Given the description of an element on the screen output the (x, y) to click on. 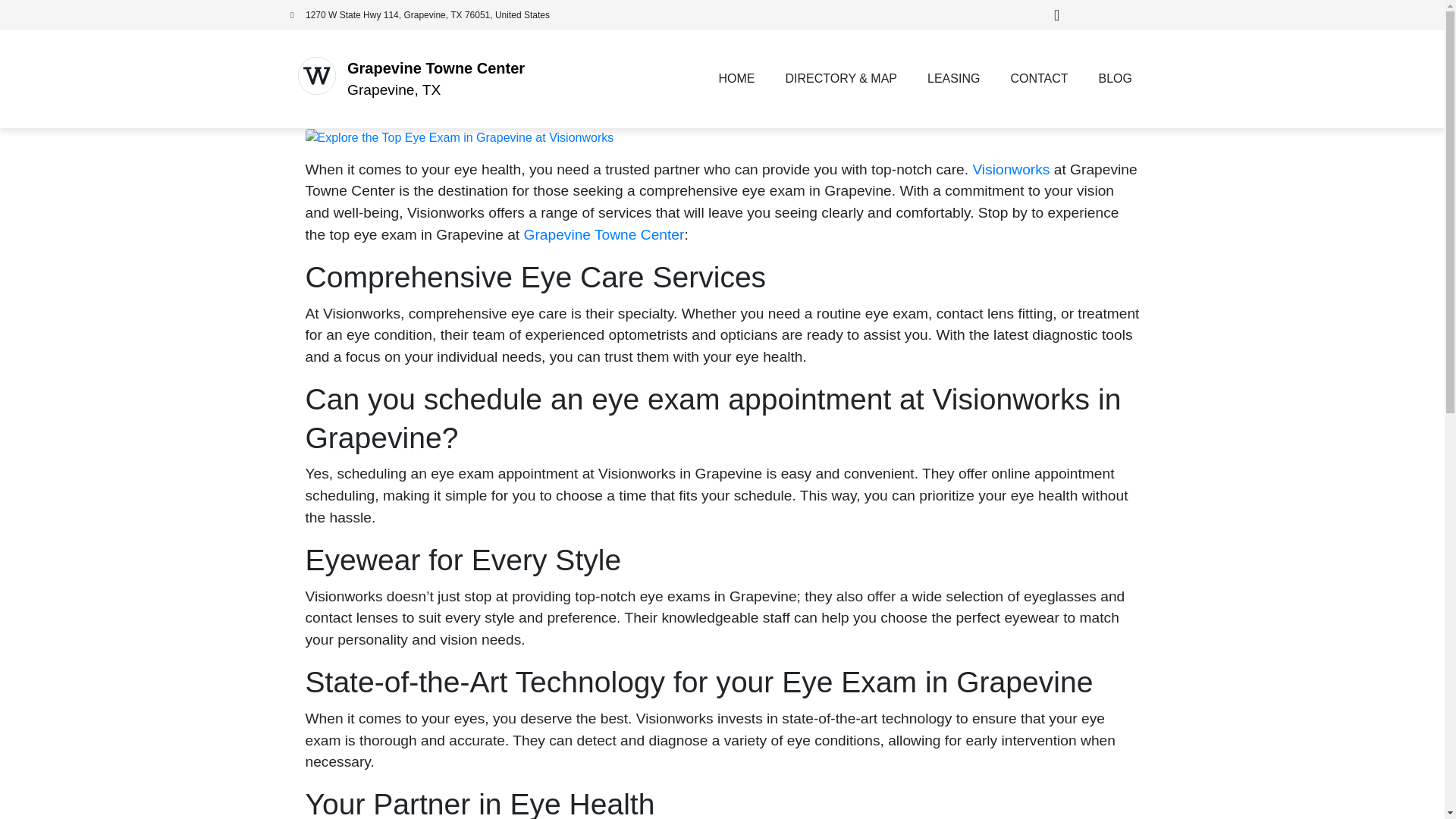
HOME (736, 78)
LEASING (953, 78)
Grapevine Towne Center (603, 234)
Visionworks (1010, 169)
Grapevine Towne Center (435, 67)
Explore the Top Eye Exam in Grapevine at Visionworks (458, 136)
CONTACT (1038, 78)
BLOG (1115, 78)
